Given the description of an element on the screen output the (x, y) to click on. 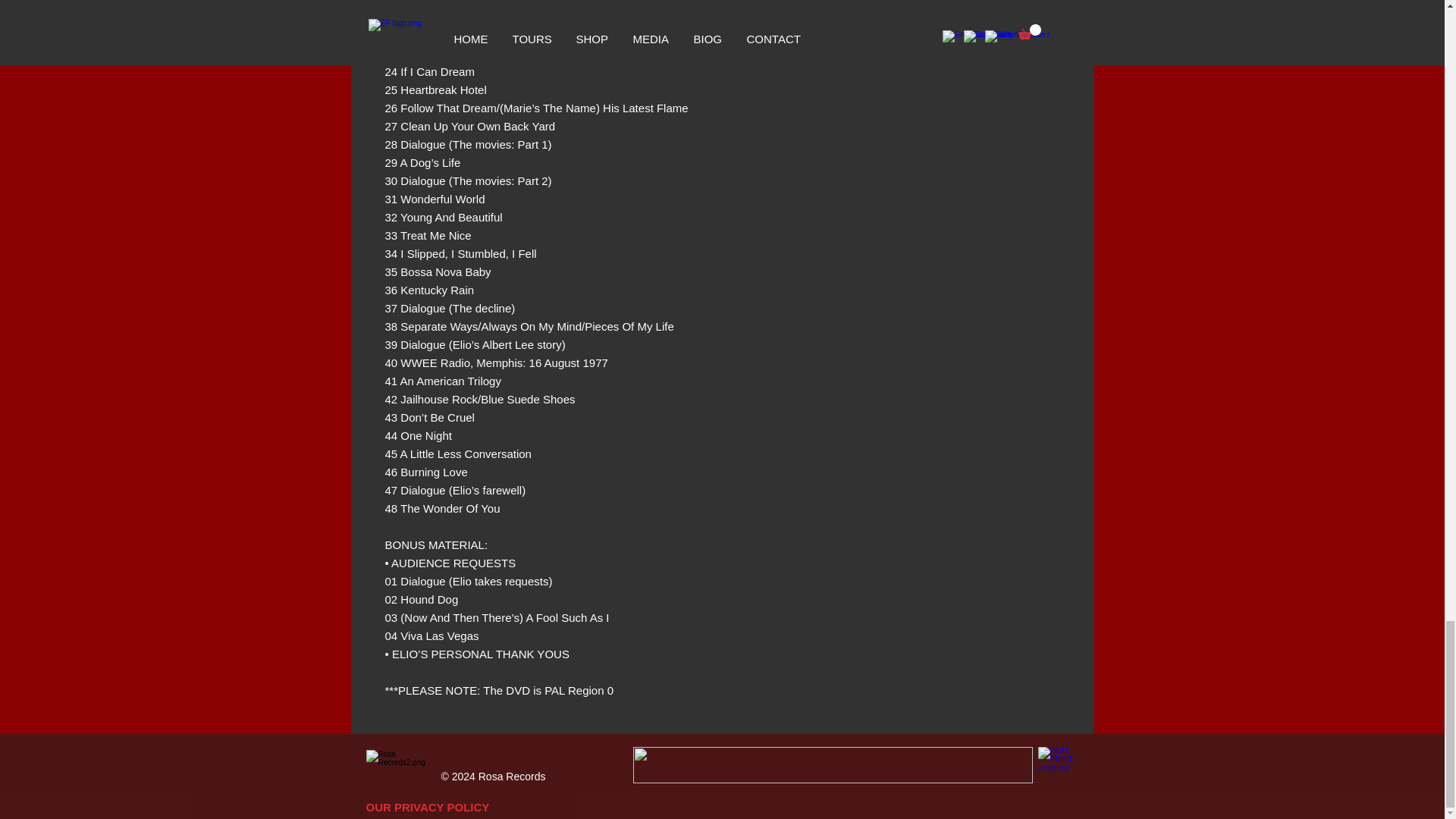
OUR PRIVACY POLICY (427, 807)
